Given the description of an element on the screen output the (x, y) to click on. 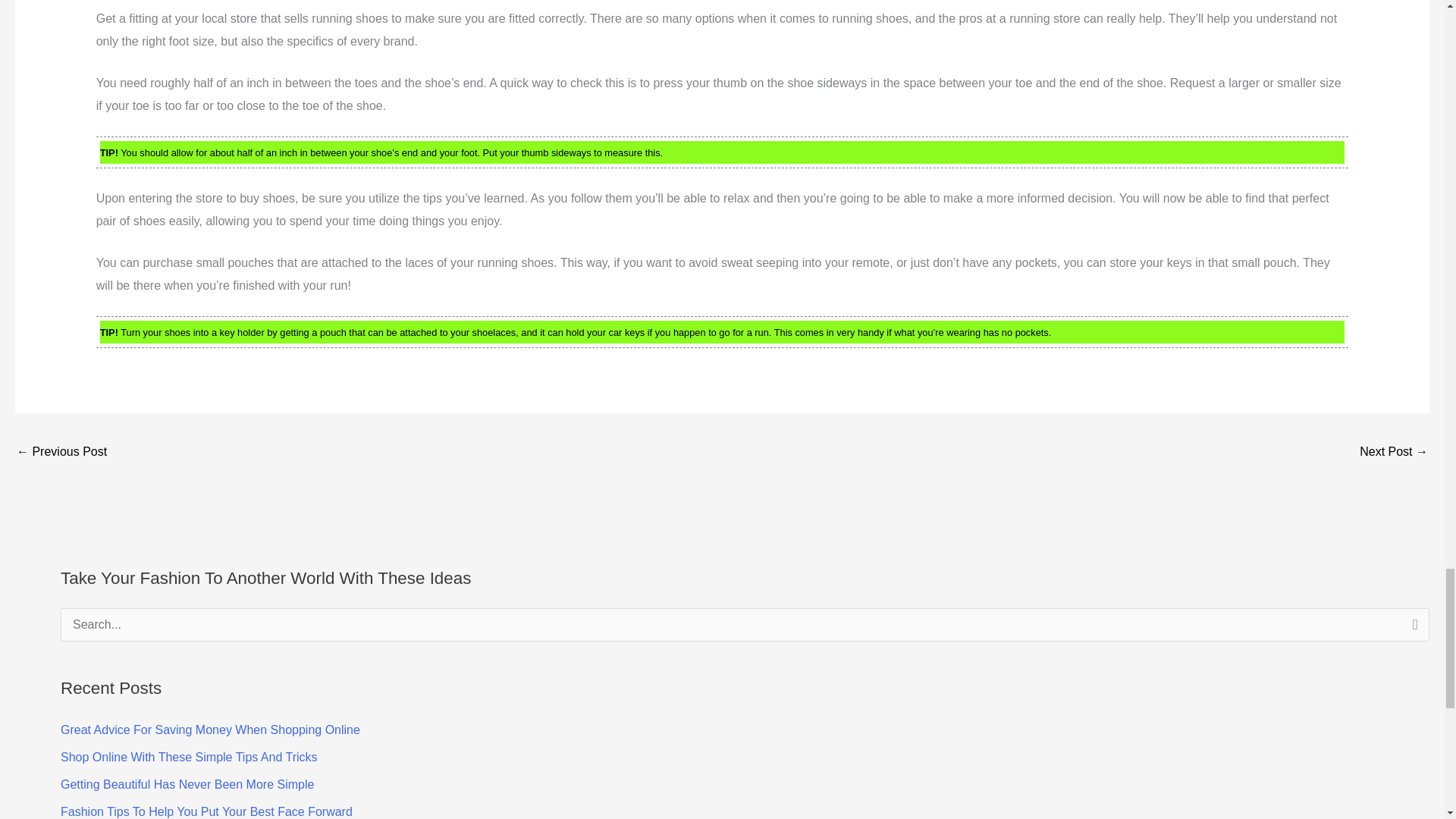
Want To Get The Most Of Online Shopping? Read This (1393, 452)
Shop Online With These Simple Tips And Tricks (189, 757)
How To Straighten Your Hair Without Chemicals (61, 452)
Great Advice For Saving Money When Shopping Online (210, 729)
Fashion Tips To Help You Put Your Best Face Forward (206, 811)
Getting Beautiful Has Never Been More Simple (187, 784)
